Given the description of an element on the screen output the (x, y) to click on. 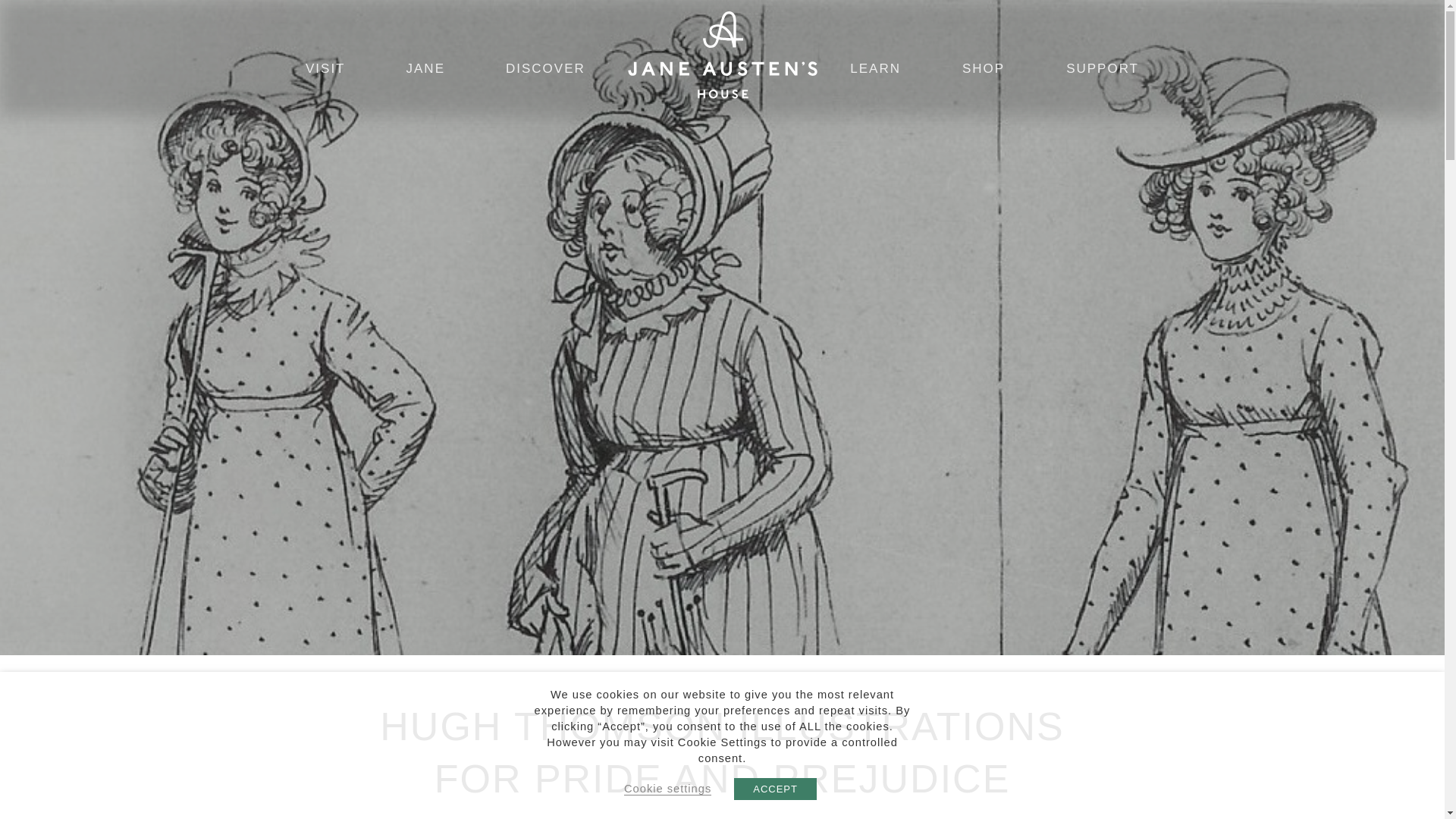
DISCOVER (545, 68)
SHOP (983, 68)
SUPPORT (1102, 68)
VISIT (325, 68)
JANE (425, 68)
LEARN (875, 68)
